Given the description of an element on the screen output the (x, y) to click on. 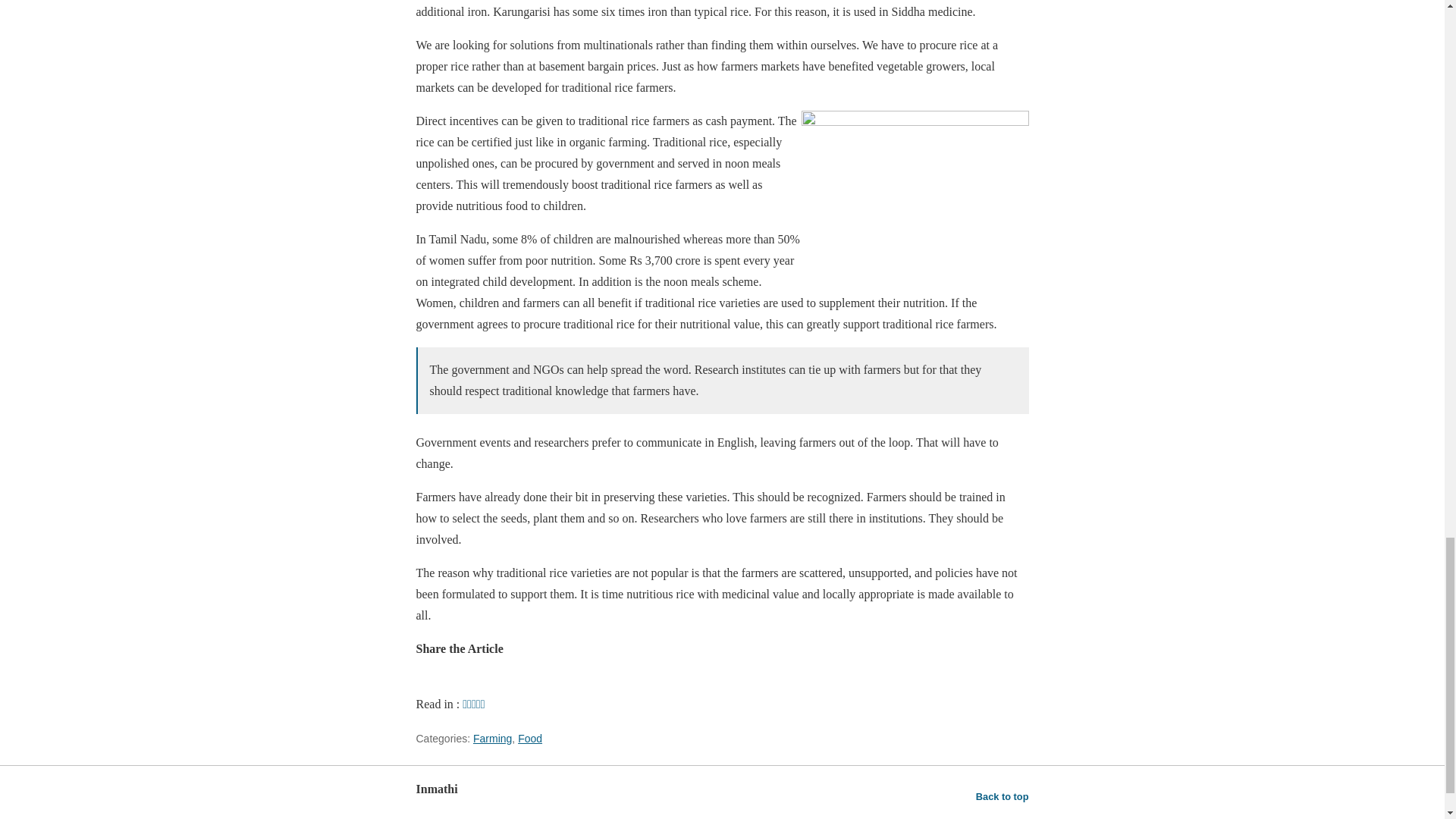
Back to top (1002, 796)
Food (529, 738)
Facebook (531, 682)
Farming (492, 738)
Twitter (565, 682)
Whatsapp (431, 682)
Telegram (464, 682)
Pinterest (498, 682)
